Given the description of an element on the screen output the (x, y) to click on. 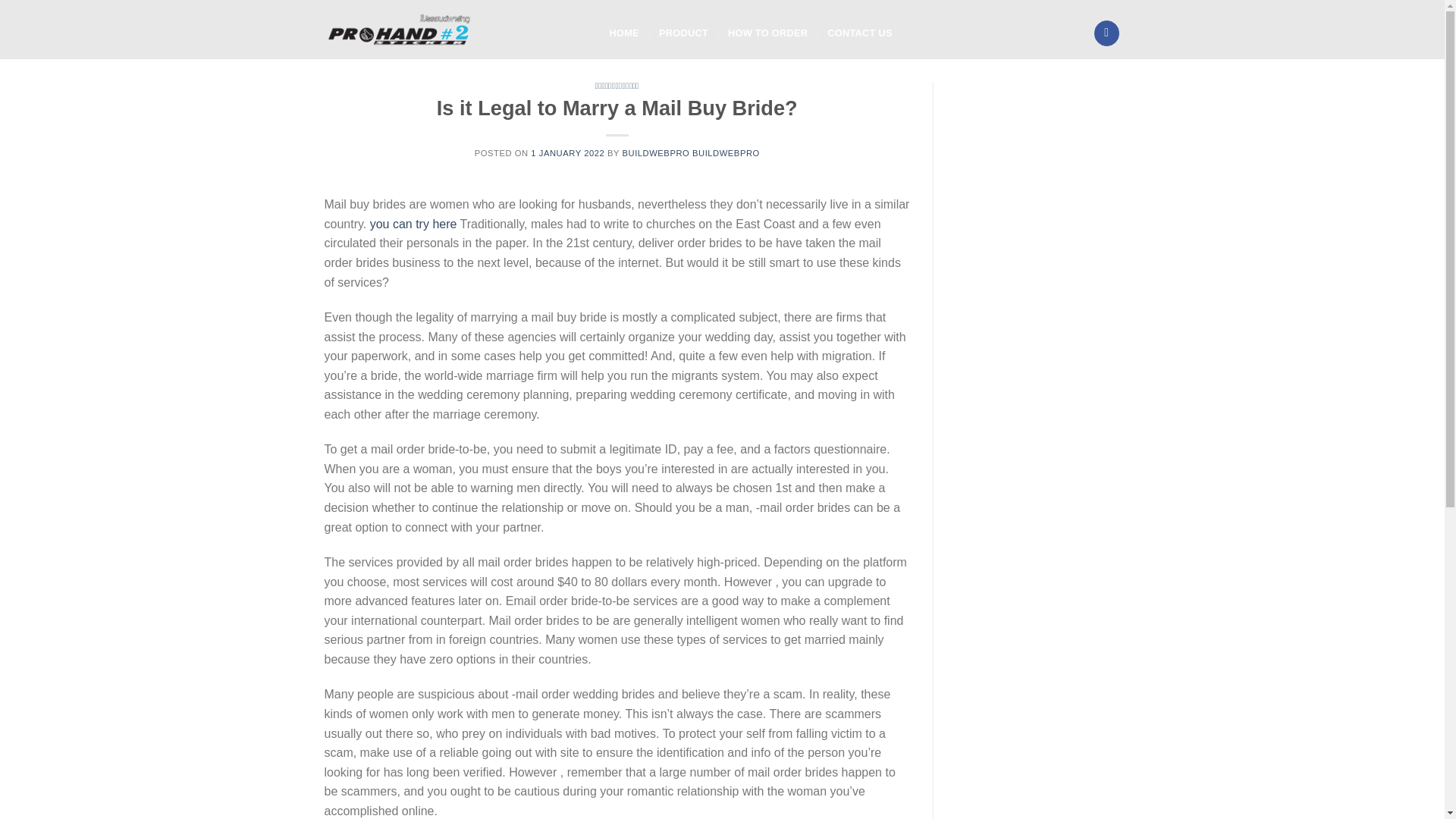
1 JANUARY 2022 (567, 153)
CONTACT US (859, 33)
HOW TO ORDER (768, 33)
BUILDWEBPRO BUILDWEBPRO (689, 153)
HOME (624, 33)
PRODUCT (683, 33)
you can try here (413, 223)
